Given the description of an element on the screen output the (x, y) to click on. 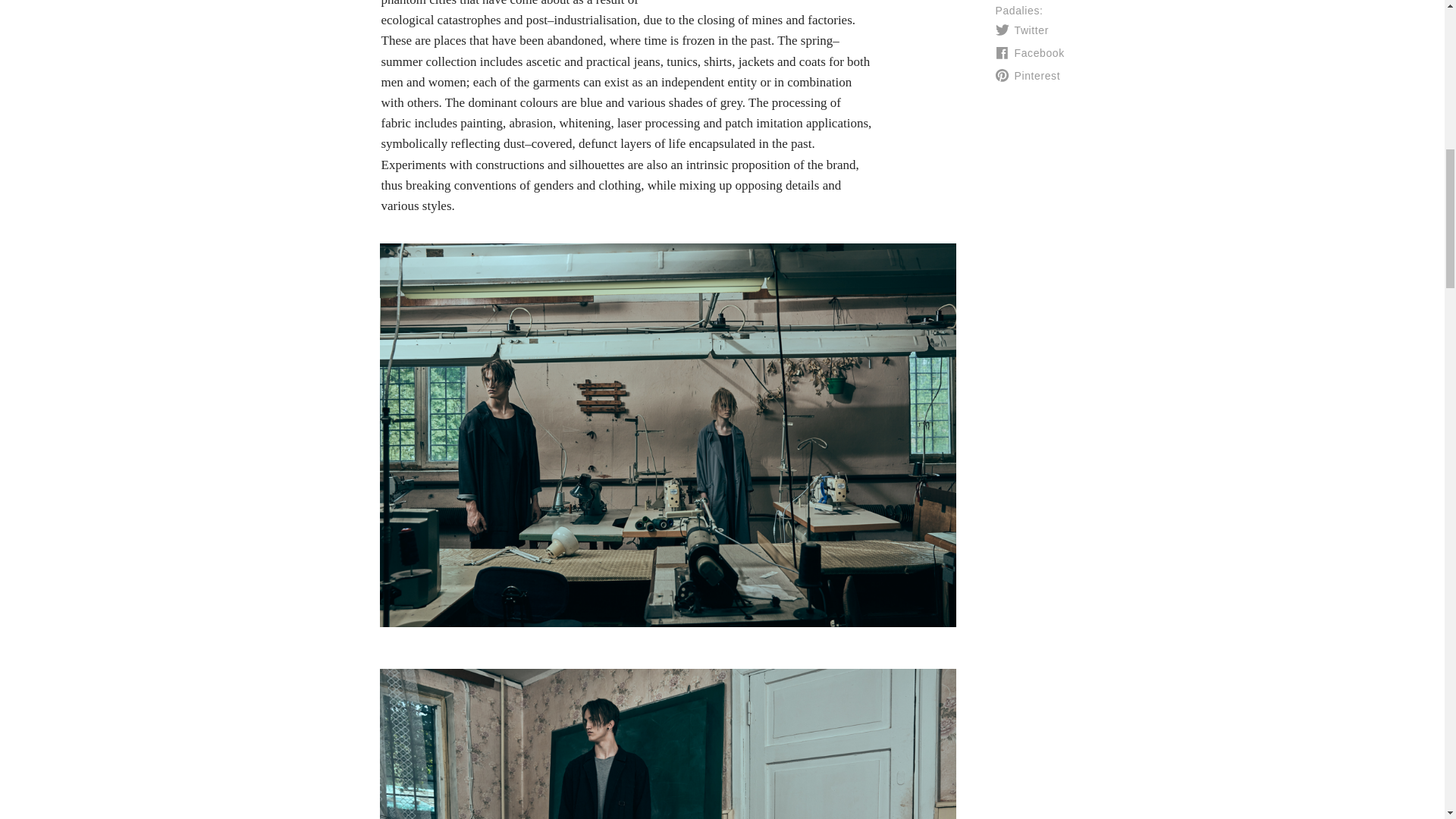
Facebook (1017, 52)
Twitter (1017, 29)
Pinterest (1017, 75)
